Given the description of an element on the screen output the (x, y) to click on. 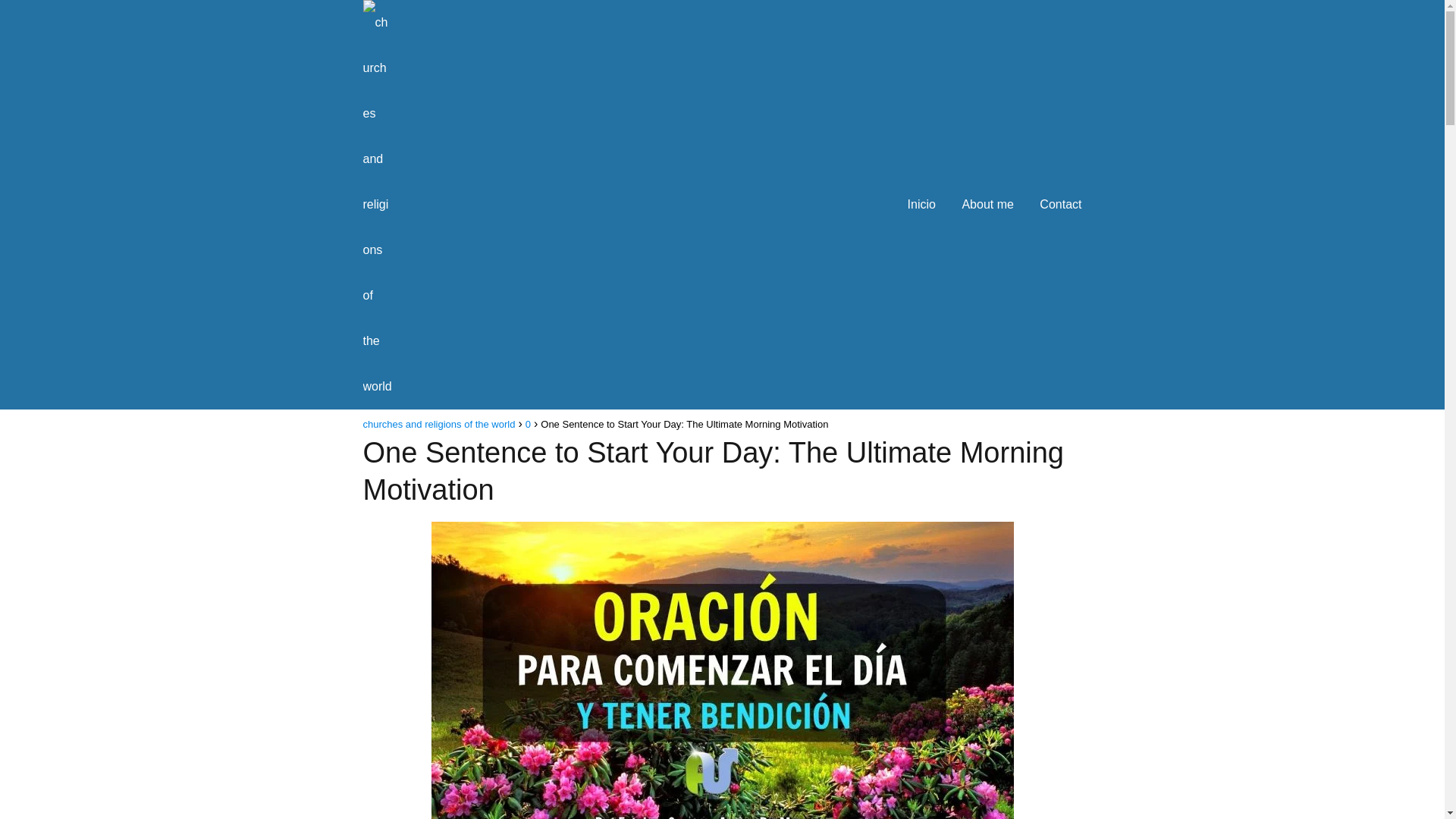
churches and religions of the world (438, 423)
About me (986, 204)
Inicio (921, 204)
Contact (1060, 204)
